Given the description of an element on the screen output the (x, y) to click on. 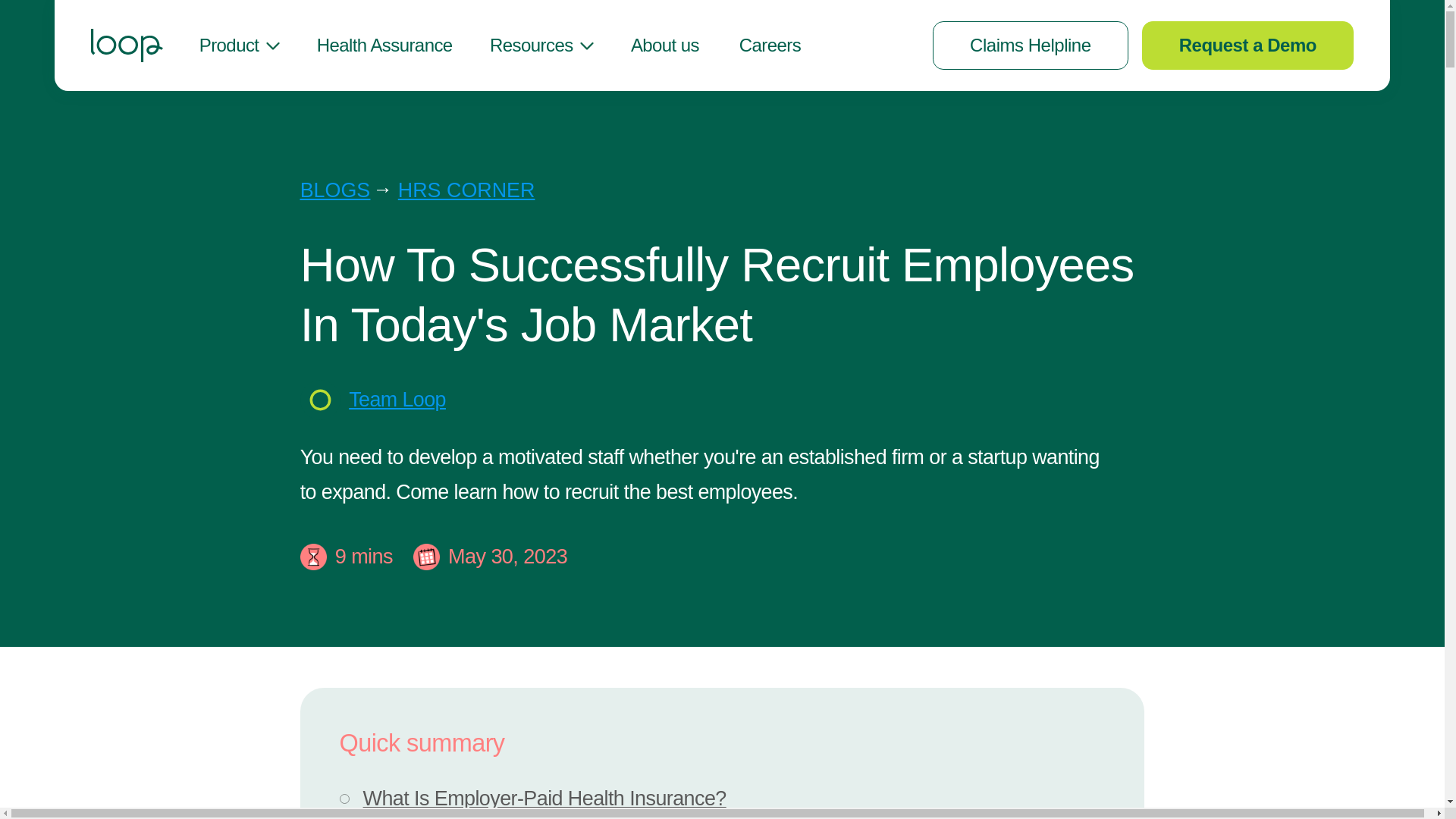
What Is Employer-Paid Health Insurance? (722, 798)
Request a Demo (1247, 45)
Team Loop (397, 399)
HRS CORNER (466, 190)
Careers (770, 45)
Claims Helpline (1030, 45)
About us (664, 45)
BLOGS (335, 190)
Health Assurance (384, 45)
